Given the description of an element on the screen output the (x, y) to click on. 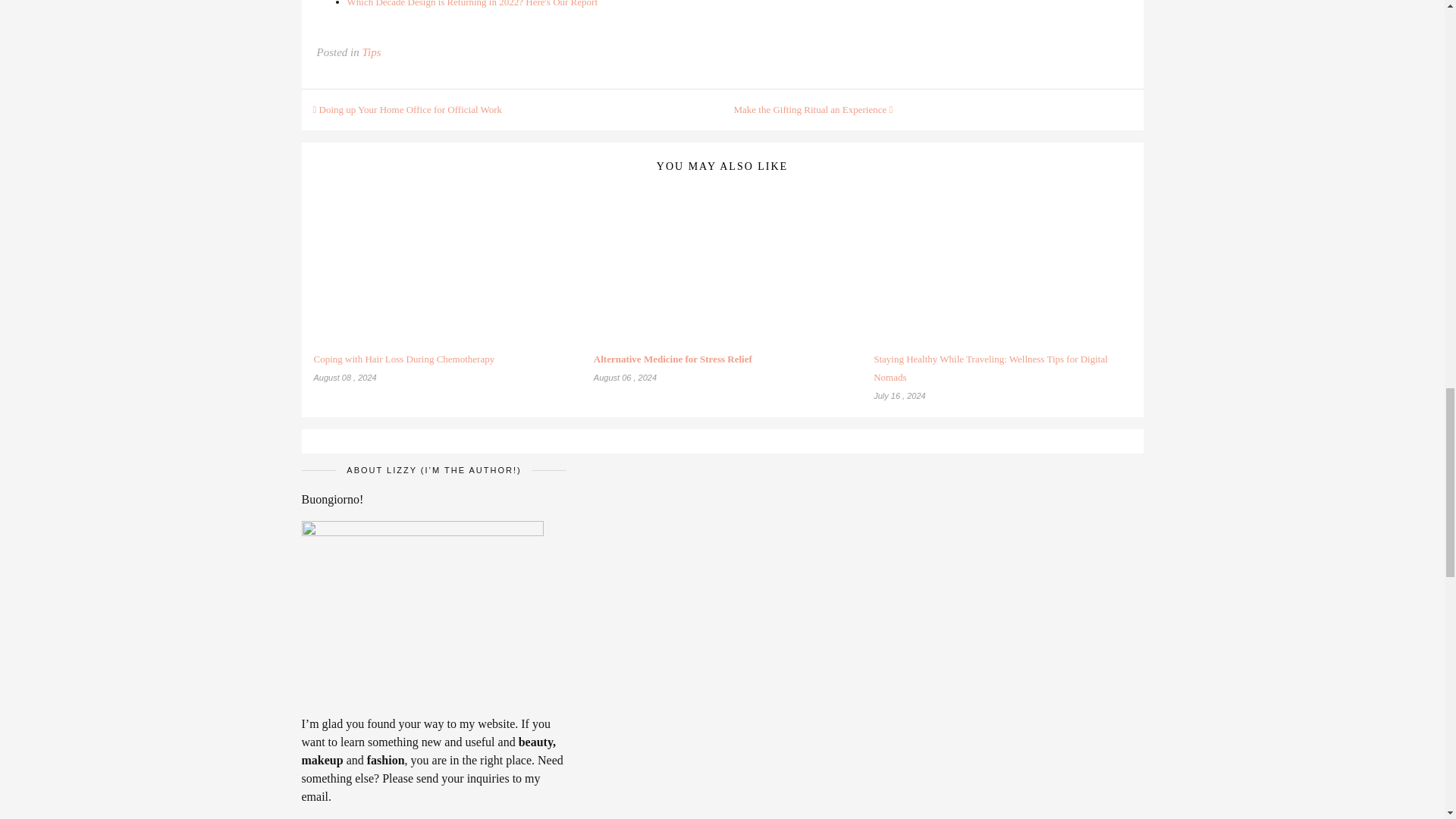
Make the Gifting Ritual an Experience  (442, 288)
Which Decade Design is Returning in 2022? Here's Our Report (813, 109)
Tips (472, 3)
 Doing up Your Home Office for Official Work (371, 51)
